Given the description of an element on the screen output the (x, y) to click on. 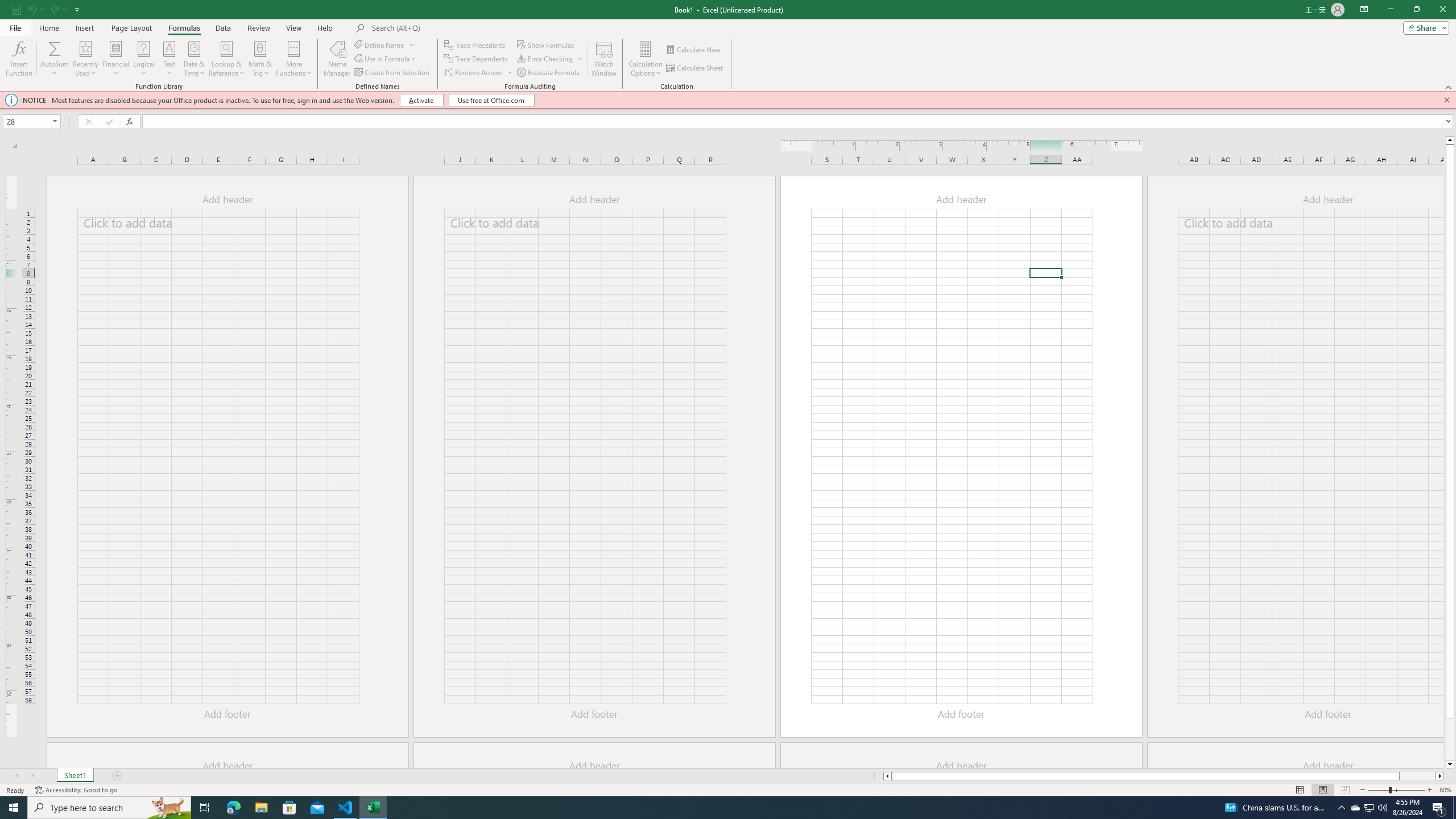
Date & Time (194, 58)
Calculate Sheet (694, 67)
More Functions (294, 58)
Sum (54, 48)
Calculate Now (694, 49)
Calculation Options (645, 58)
Insert Function... (18, 58)
